Given the description of an element on the screen output the (x, y) to click on. 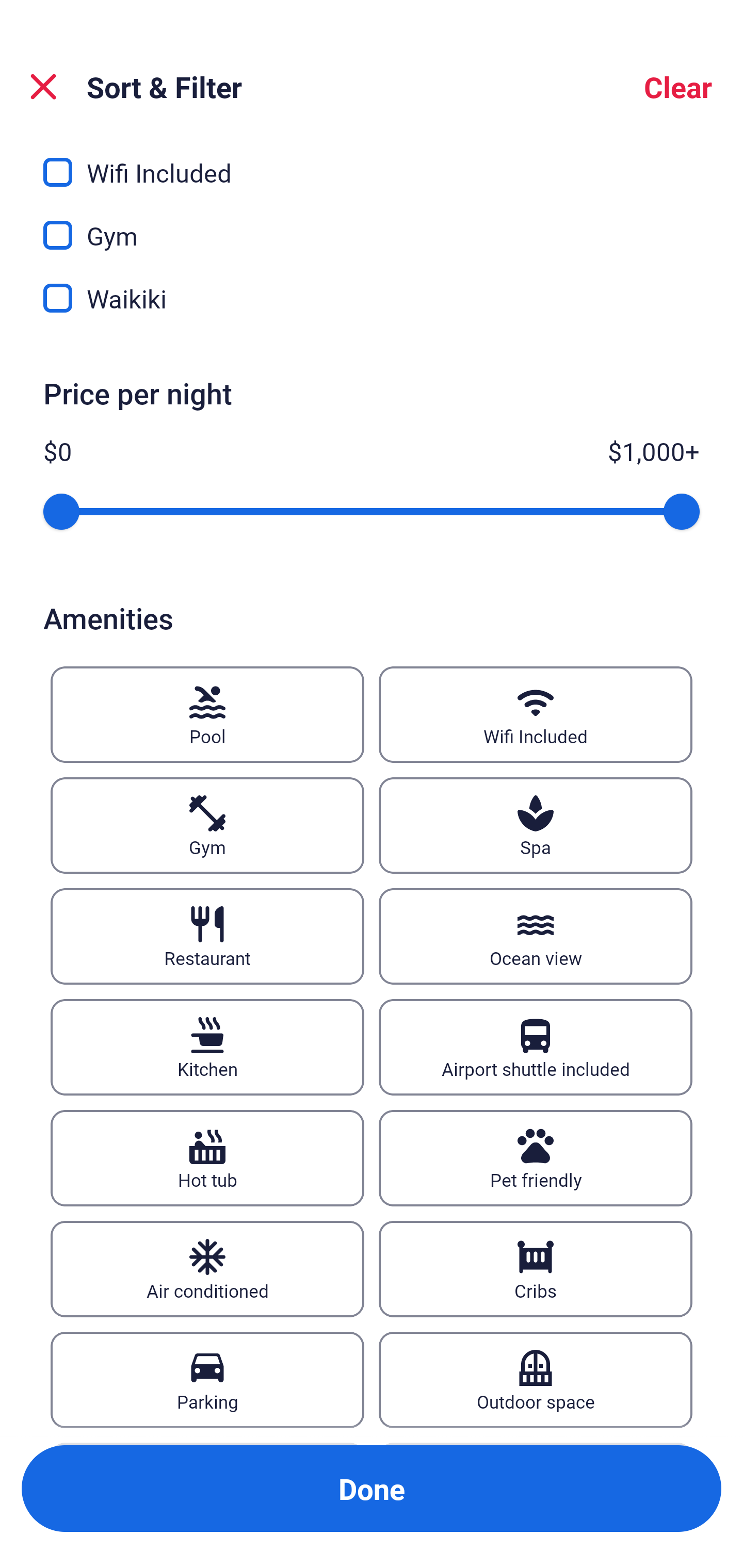
Close Sort and Filter (43, 86)
Clear (677, 86)
Wifi Included, Wifi Included (371, 161)
Gym, Gym (371, 223)
Waikiki, Waikiki (371, 298)
Pool (207, 714)
Wifi Included (535, 714)
Gym (207, 825)
Spa (535, 825)
Restaurant (207, 935)
Ocean view (535, 935)
Kitchen (207, 1047)
Airport shuttle included (535, 1047)
Hot tub (207, 1157)
Pet friendly (535, 1157)
Air conditioned (207, 1269)
Cribs (535, 1269)
Parking (207, 1379)
Outdoor space (535, 1379)
Apply and close Sort and Filter Done (371, 1488)
